Given the description of an element on the screen output the (x, y) to click on. 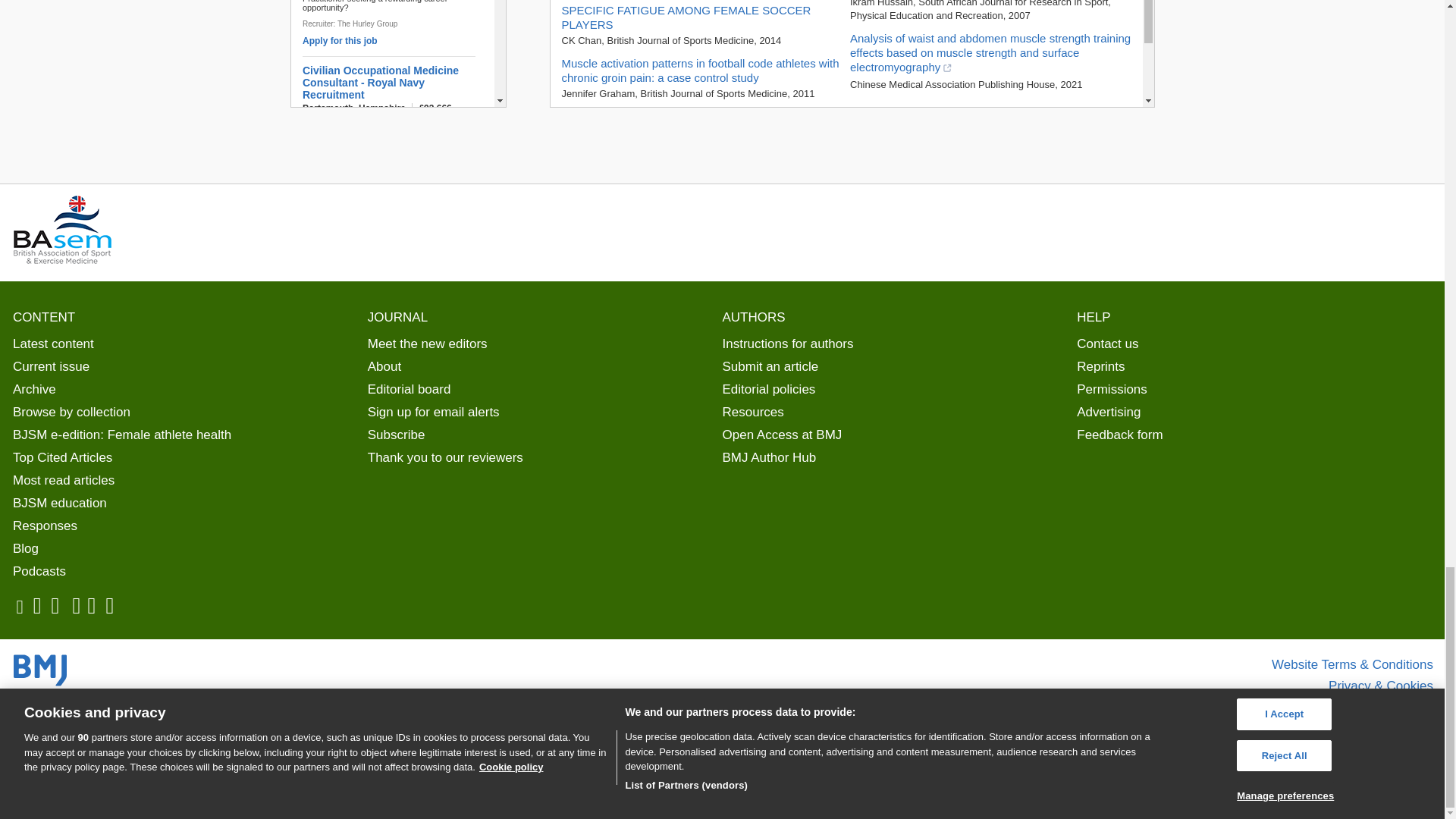
careers widget (397, 53)
